Given the description of an element on the screen output the (x, y) to click on. 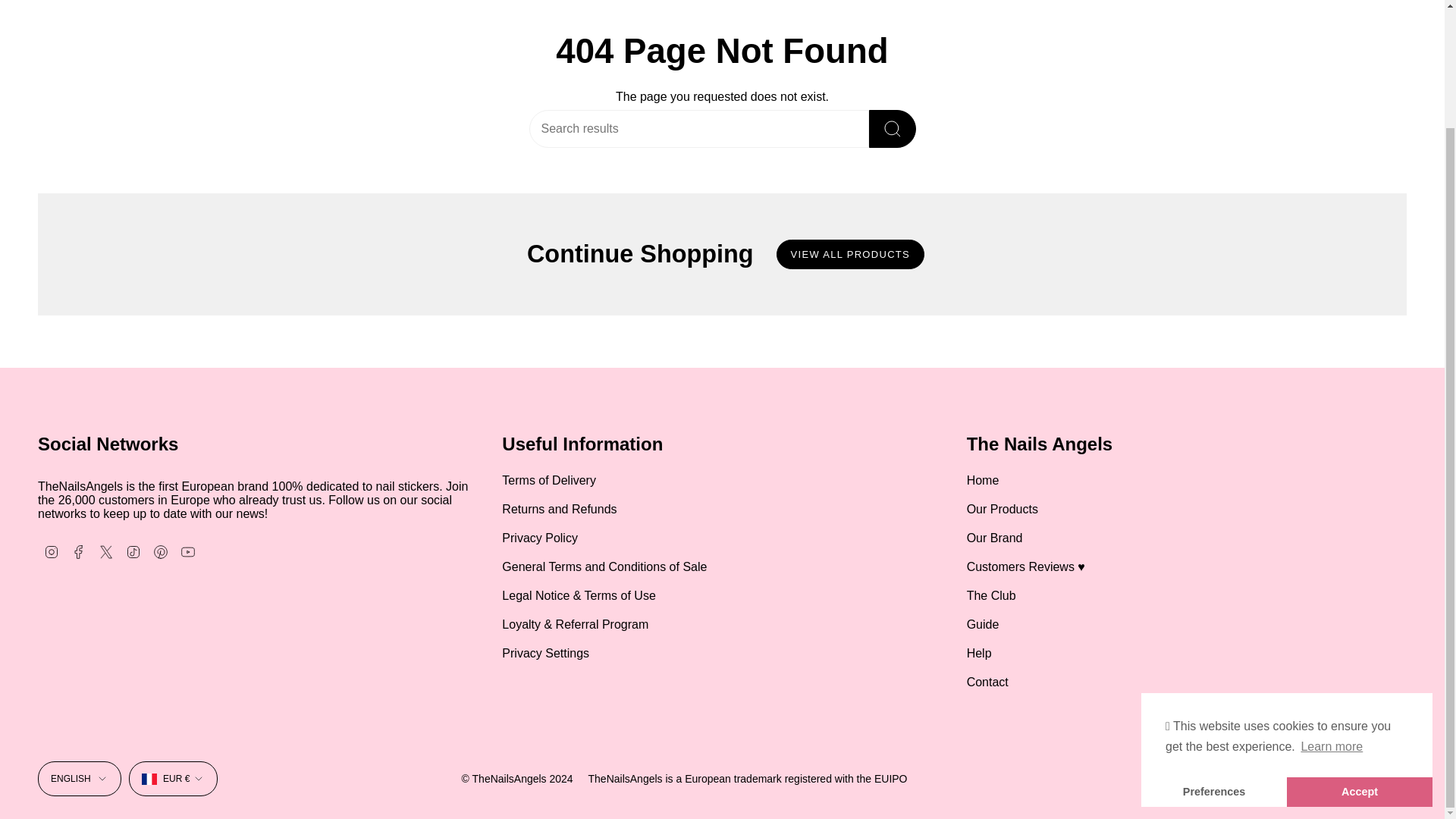
TheNailsAngels on Facebook (78, 550)
Learn more (1331, 606)
TheNailsAngels on Pinterest (160, 550)
TheNailsAngels on TikTok (133, 550)
TheNailsAngels on Twitter (106, 550)
Preferences (1214, 651)
TheNailsAngels on YouTube (187, 550)
TheNailsAngels on Instagram (51, 550)
Accept (1359, 651)
